Given the description of an element on the screen output the (x, y) to click on. 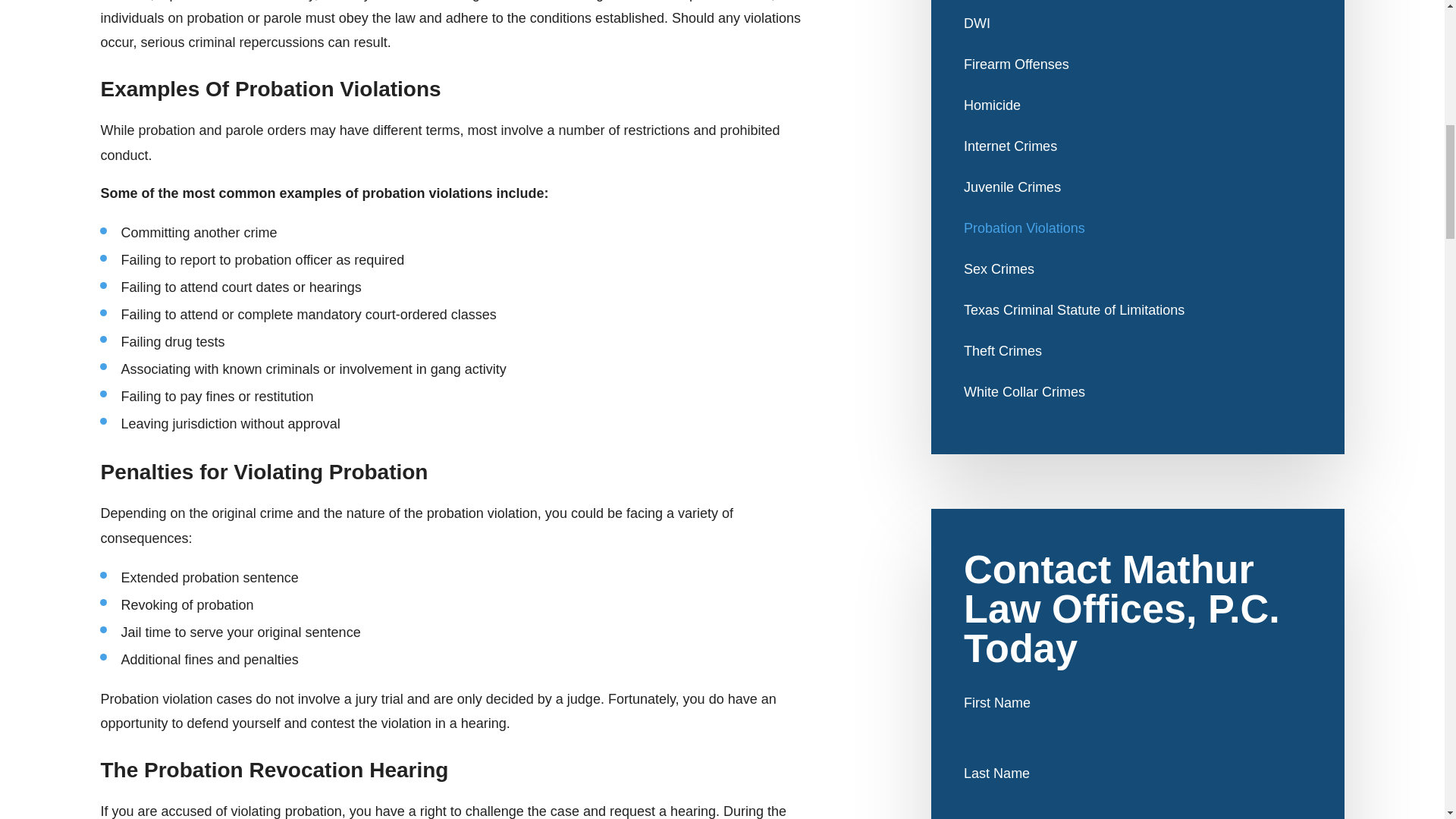
Open child menu of White Collar Crimes (1304, 391)
Open child menu of Theft Crimes (1304, 350)
Open child menu of Sex Crimes (1304, 269)
Open child menu of DWI (1304, 23)
